Given the description of an element on the screen output the (x, y) to click on. 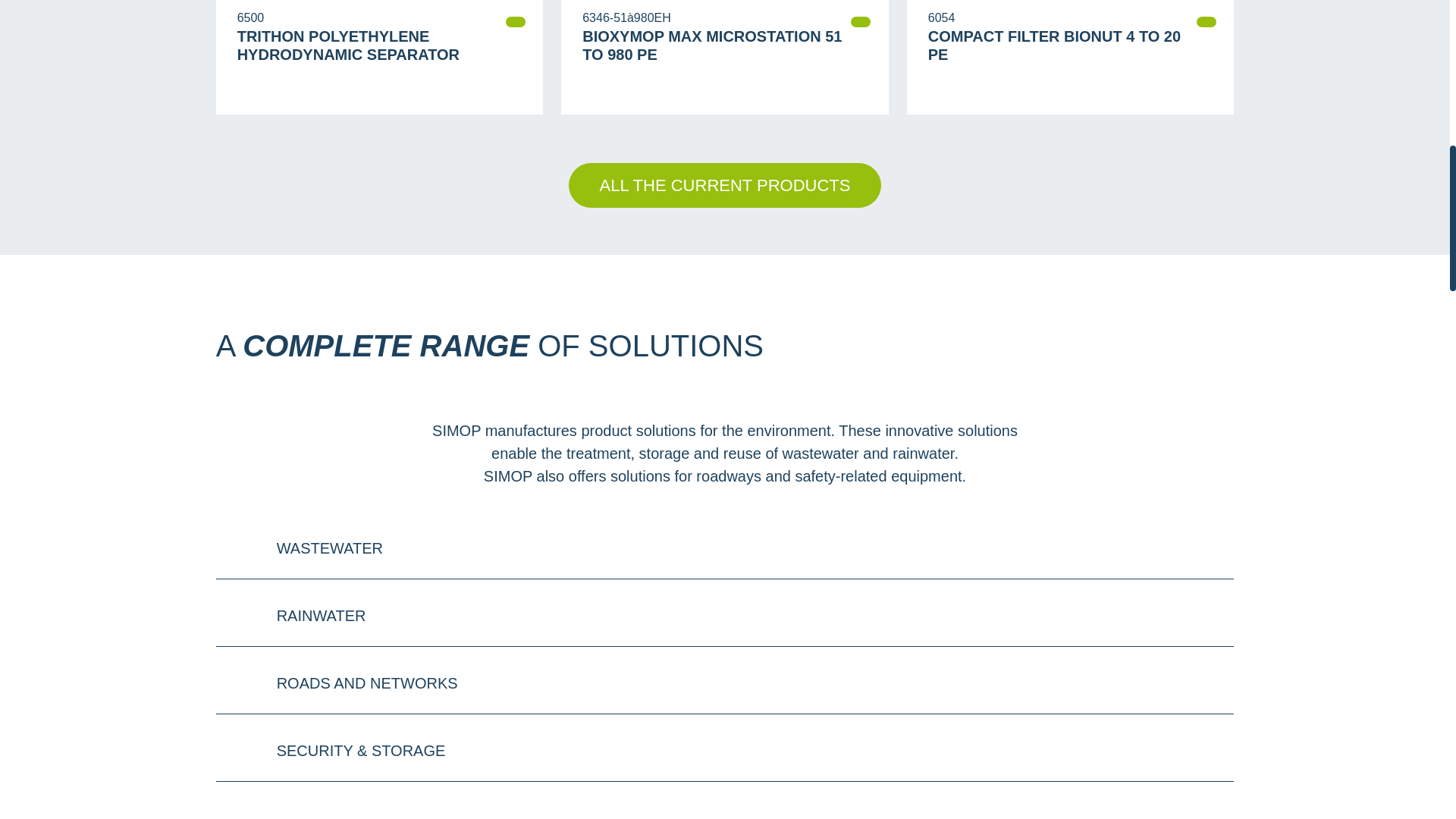
BIOXYMOP Max Microstation 51 to 980 PE 5 (711, 4)
TRITHON Polyethylene hydrodynamic separator 4 (366, 4)
Compact filter BIONUT 4 to 20 PE 6 (1058, 4)
